Given the description of an element on the screen output the (x, y) to click on. 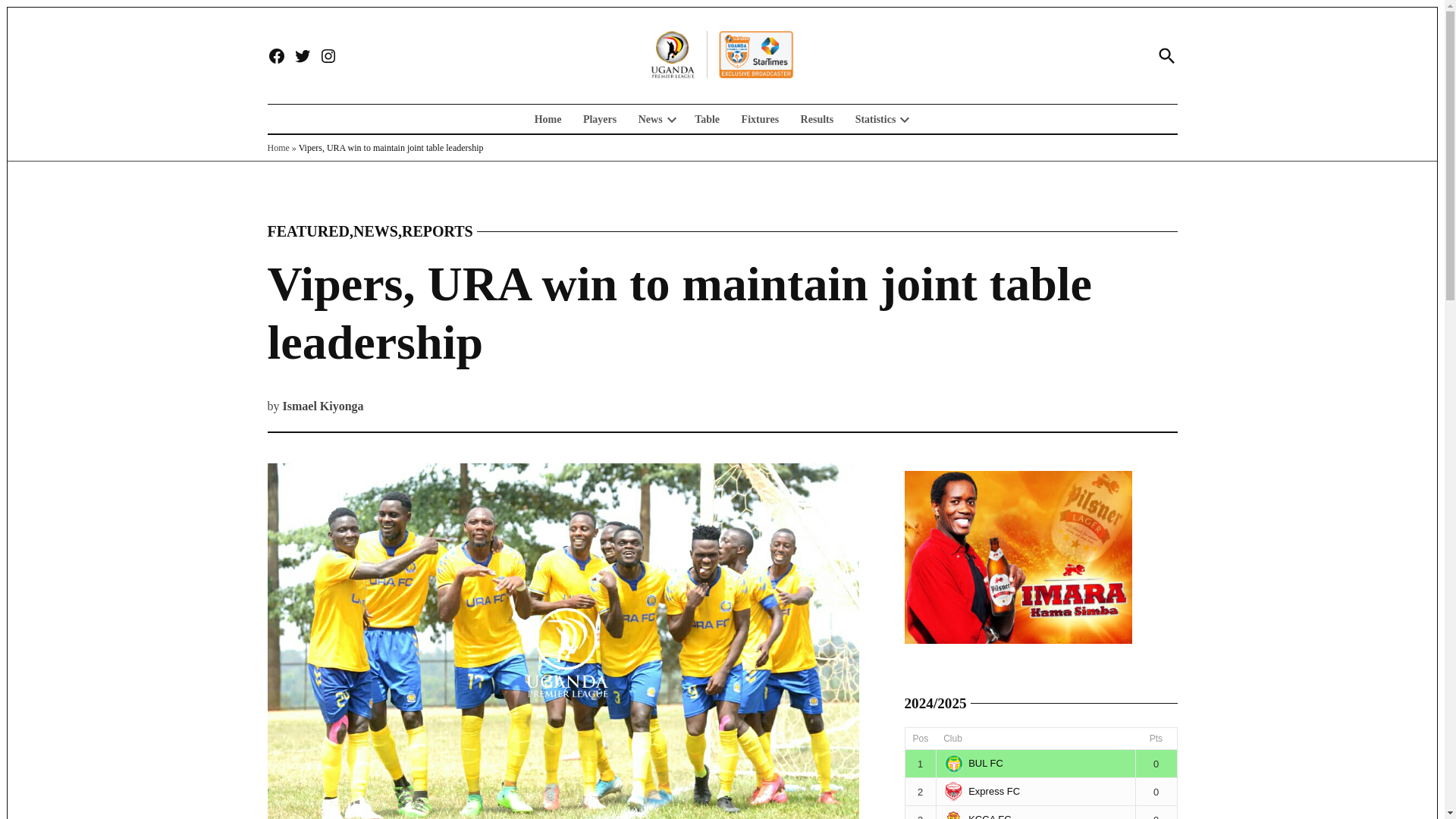
Home (551, 118)
Instagram (327, 56)
Twitter (301, 56)
News (646, 118)
Players (599, 118)
Facebook Page (275, 56)
